Given the description of an element on the screen output the (x, y) to click on. 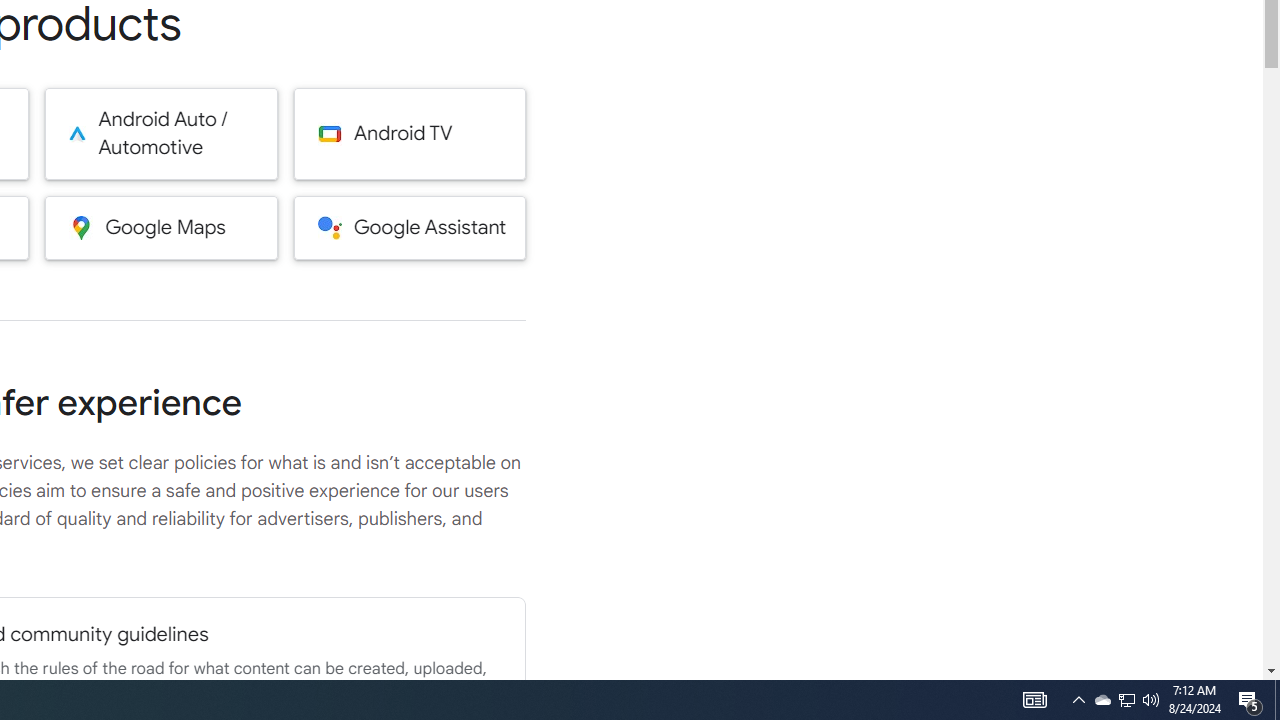
Google Assistant (410, 227)
Google Maps (160, 227)
Android Auto / Automotive (160, 133)
Android TV (410, 133)
